Given the description of an element on the screen output the (x, y) to click on. 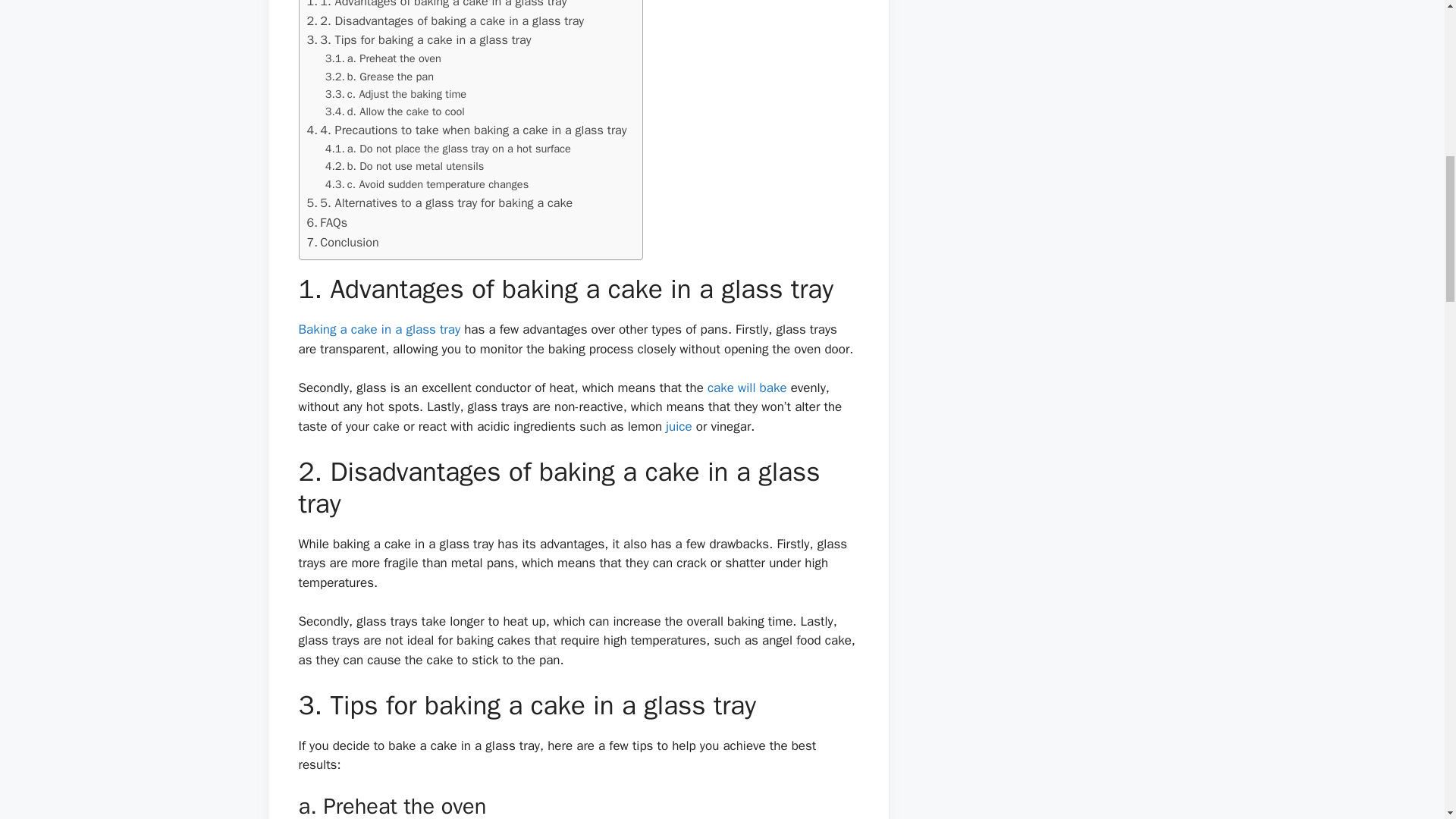
a. Do not place the glass tray on a hot surface (447, 149)
b. Do not use metal utensils (404, 166)
FAQs (326, 222)
b. Grease the pan (378, 76)
c. Avoid sudden temperature changes (426, 184)
3. Tips for baking a cake in a glass tray (418, 39)
2. Disadvantages of baking a cake in a glass tray (444, 21)
Conclusion (341, 242)
c. Avoid sudden temperature changes (426, 184)
a. Do not place the glass tray on a hot surface (447, 149)
d. Allow the cake to cool (394, 111)
b. Do not use metal utensils (404, 166)
c. Adjust the baking time (394, 94)
b. Grease the pan (378, 76)
4. Precautions to take when baking a cake in a glass tray (465, 130)
